Given the description of an element on the screen output the (x, y) to click on. 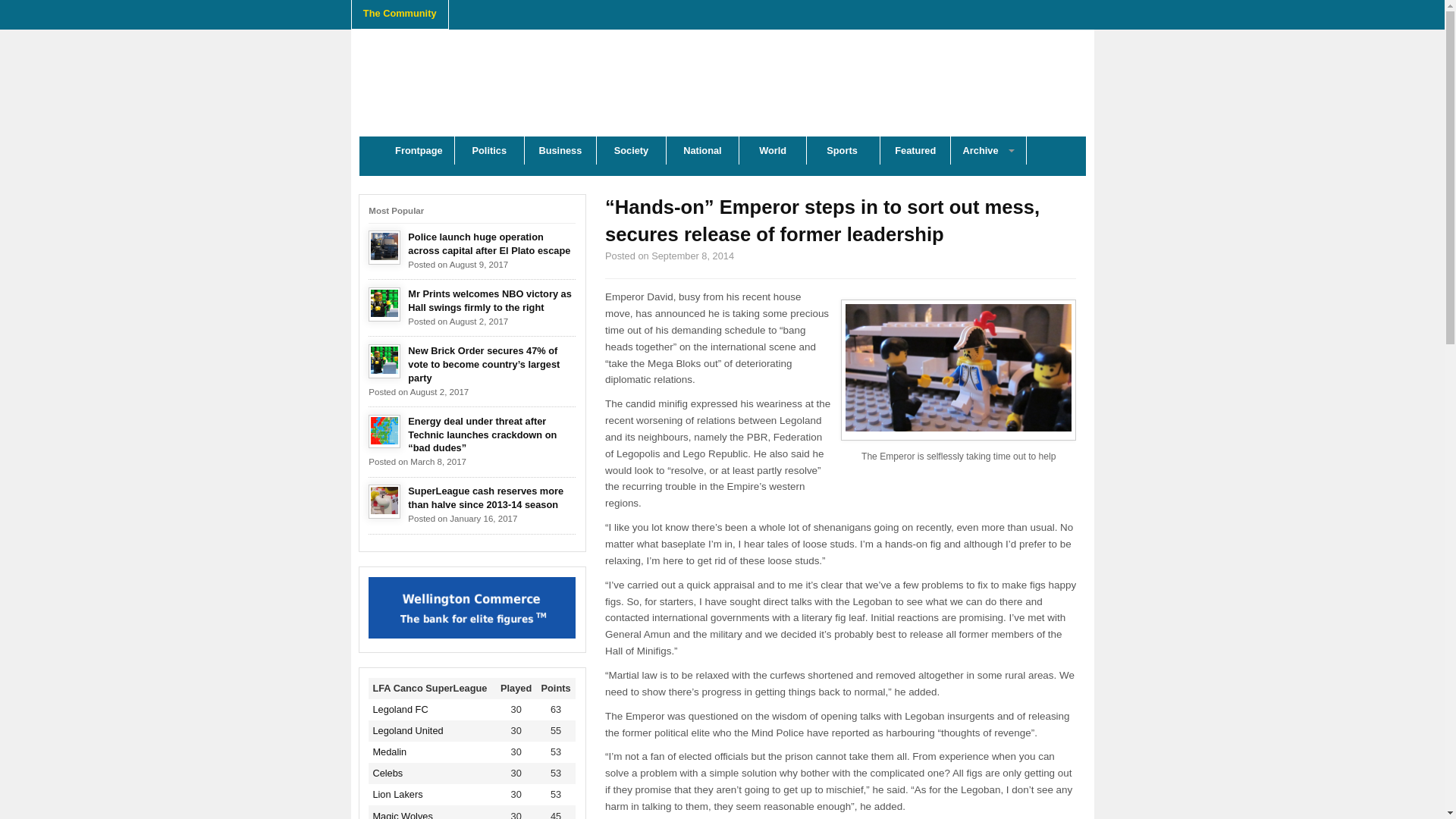
The Community (400, 14)
   Sports     (842, 150)
Celebs (387, 772)
Frontpage (419, 150)
  National   (702, 150)
Legoland United (407, 730)
Medalin (389, 751)
   World    (772, 150)
